Given the description of an element on the screen output the (x, y) to click on. 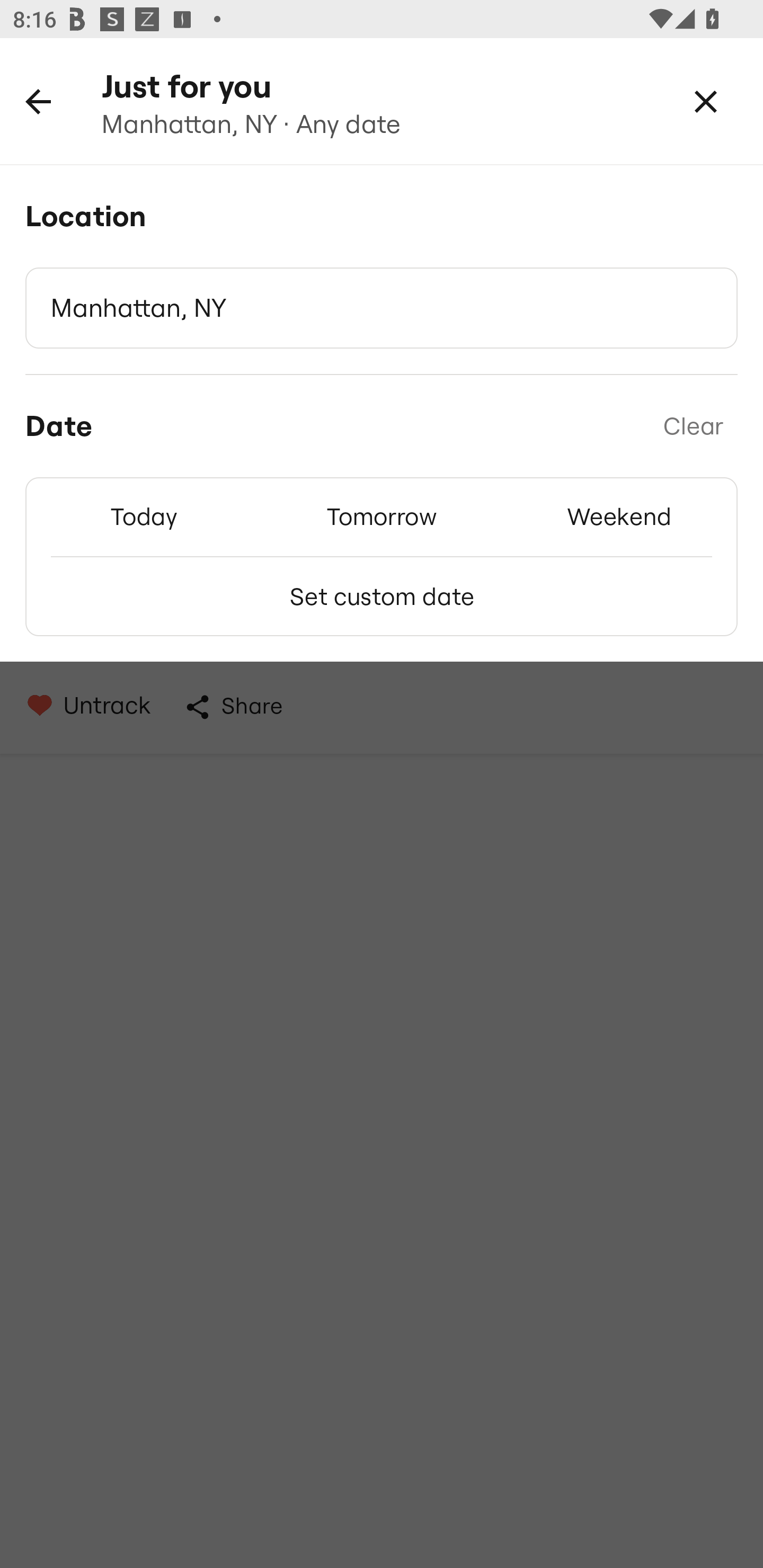
Back (38, 100)
Close (705, 100)
Manhattan, NY (381, 308)
Clear (693, 426)
Today (143, 516)
Tomorrow (381, 516)
Weekend (618, 516)
Set custom date (381, 596)
